Given the description of an element on the screen output the (x, y) to click on. 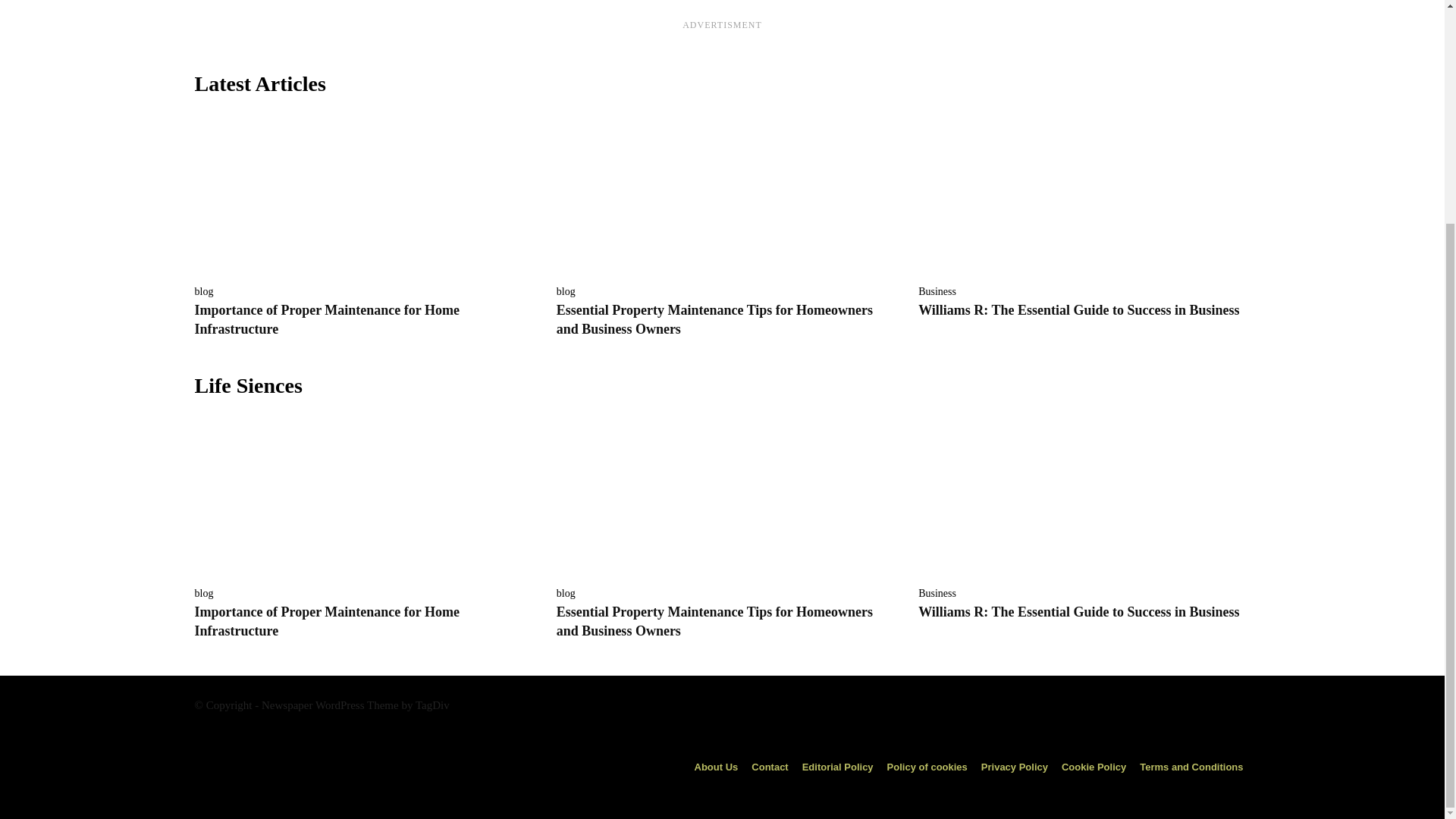
Importance of Proper Maintenance for Home Infrastructure (325, 621)
Importance of Proper Maintenance for Home Infrastructure (325, 319)
Importance of Proper Maintenance for Home Infrastructure (325, 319)
Williams R: The Essential Guide to Success in Business (1083, 193)
blog (202, 291)
Williams R: The Essential Guide to Success in Business (1078, 309)
Importance of Proper Maintenance for Home Infrastructure (359, 495)
